Given the description of an element on the screen output the (x, y) to click on. 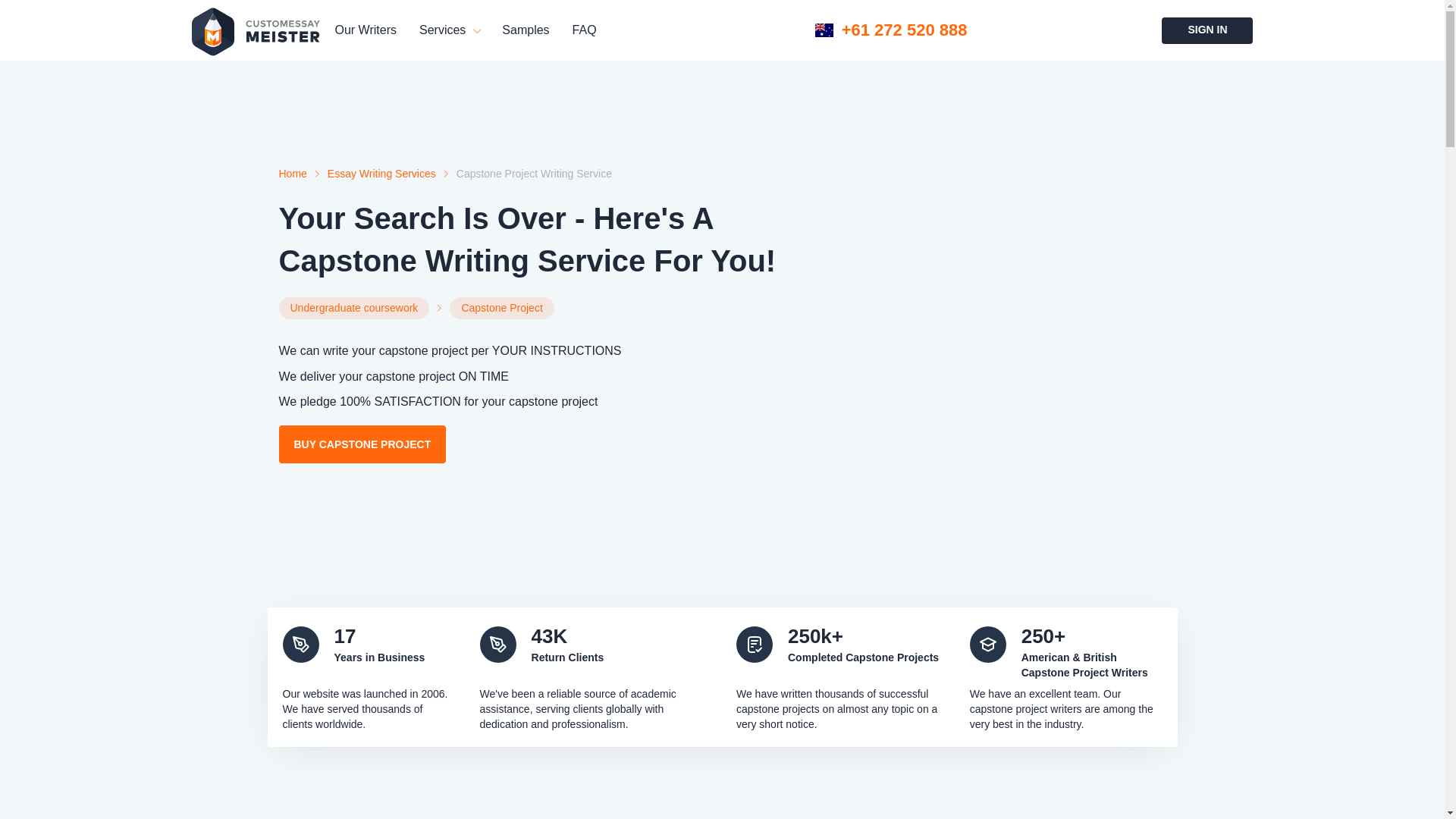
SIGN IN (1206, 29)
Samples (525, 30)
FAQ (584, 30)
FAQ (584, 30)
Samples (525, 30)
Home (293, 174)
Our Writers (365, 30)
Essay Writing Services (381, 174)
Our Writers (365, 30)
BUY CAPSTONE PROJECT (362, 444)
Capstone Project Writing Service (534, 174)
